Given the description of an element on the screen output the (x, y) to click on. 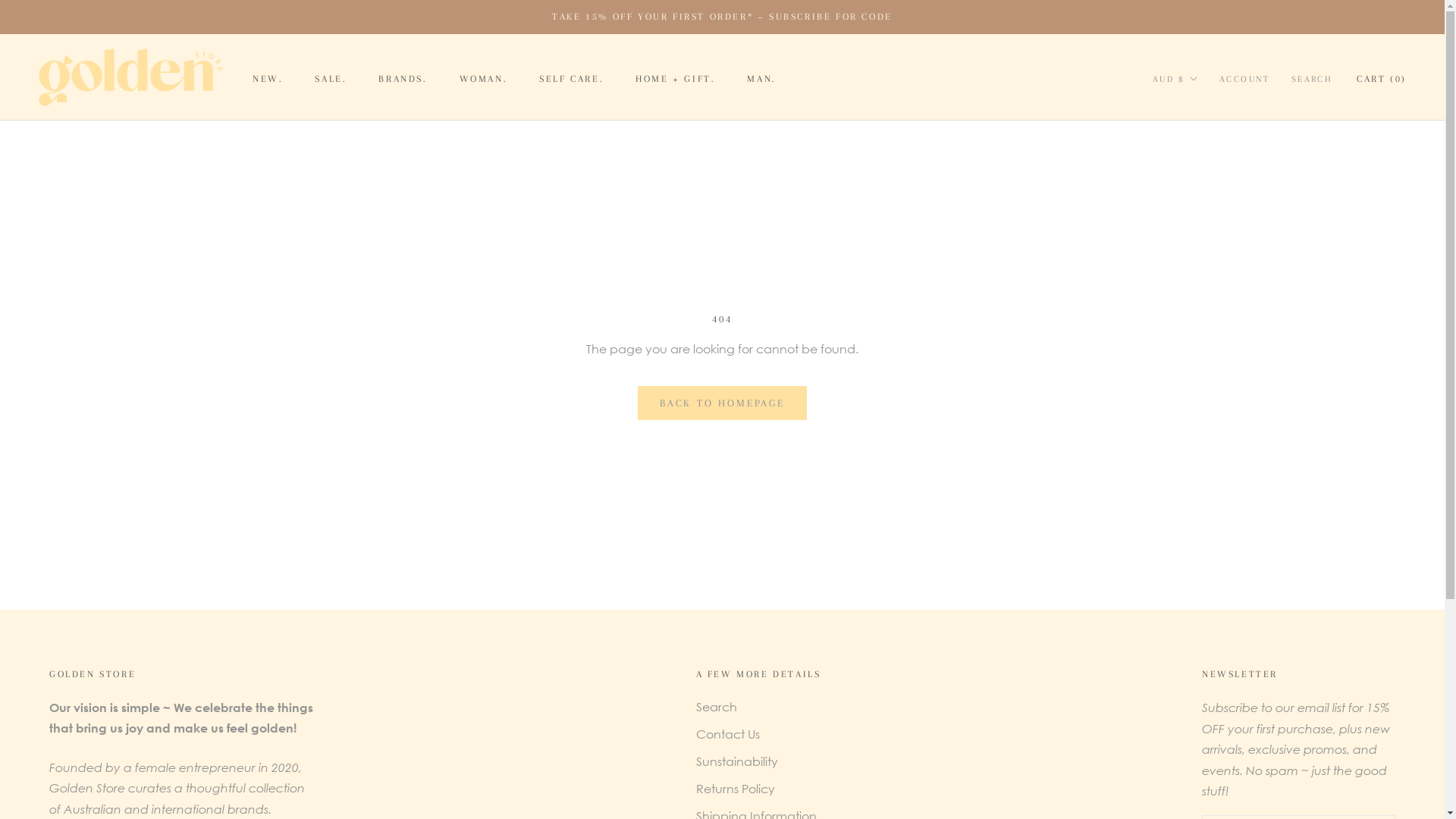
NEW.
NEW. Element type: text (267, 78)
Contact Us Element type: text (758, 733)
CART (0) Element type: text (1381, 78)
MAN. Element type: text (760, 78)
WOMAN. Element type: text (483, 78)
TAKE 15% OFF YOUR FIRST ORDER* ~ SUBSCRIBE FOR CODE Element type: text (722, 16)
Search Element type: text (758, 706)
SELF CARE.
SELF CARE. Element type: text (571, 78)
SEARCH Element type: text (1311, 79)
HOME + GIFT.
HOME + GIFT. Element type: text (675, 78)
Returns Policy Element type: text (758, 788)
BACK TO HOMEPAGE Element type: text (721, 402)
AUD Element type: text (1192, 112)
ACCOUNT Element type: text (1244, 79)
AUD $ Element type: text (1175, 79)
BRANDS. Element type: text (402, 78)
Sunstainability Element type: text (758, 761)
NZD Element type: text (1192, 135)
SALE. Element type: text (330, 78)
